Given the description of an element on the screen output the (x, y) to click on. 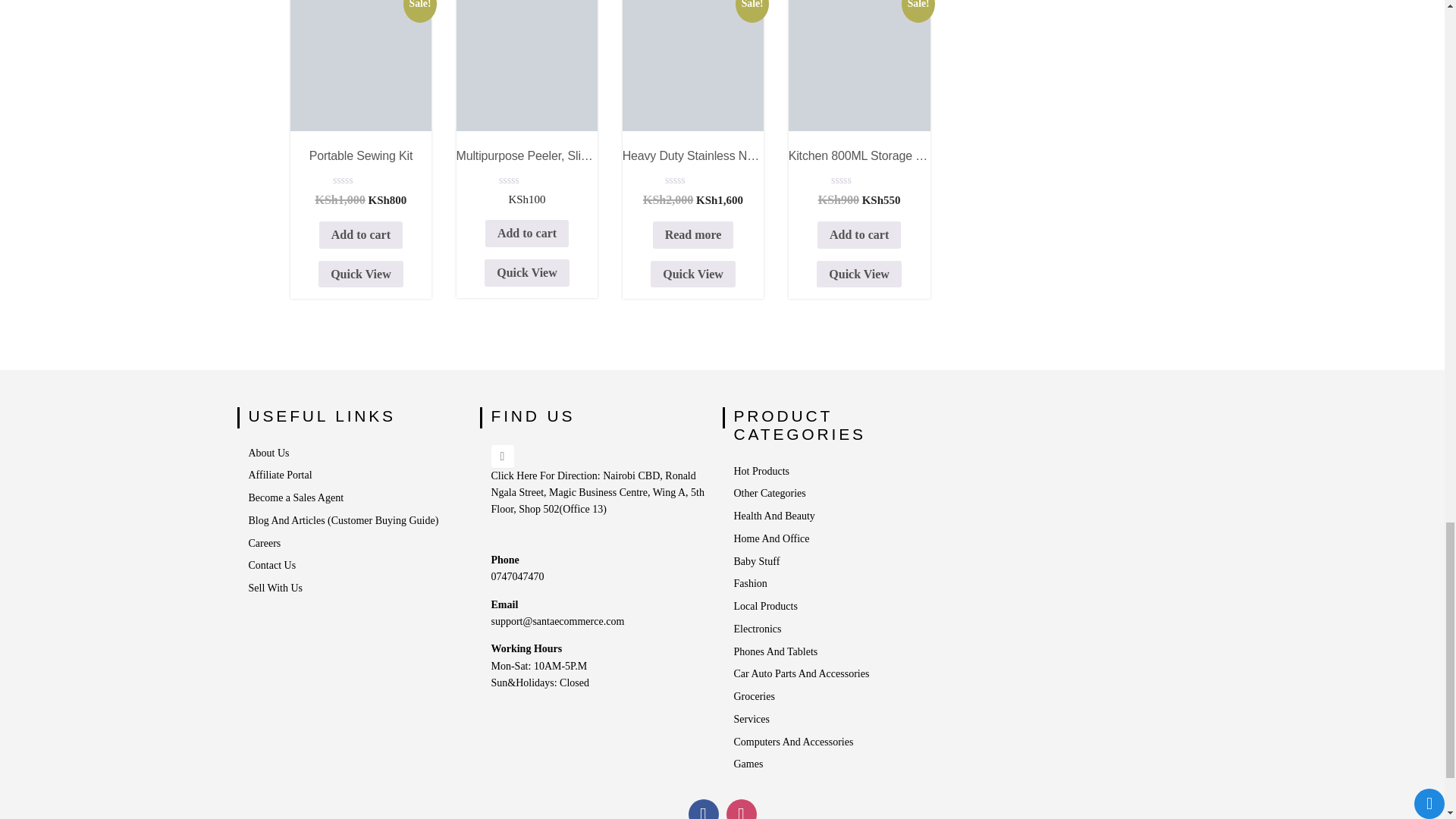
Add to cart (526, 233)
Read more (692, 234)
Facebook (703, 809)
Instagram (741, 809)
Quick View (360, 274)
Add to cart (360, 234)
Quick View (692, 274)
Quick View (526, 272)
